Given the description of an element on the screen output the (x, y) to click on. 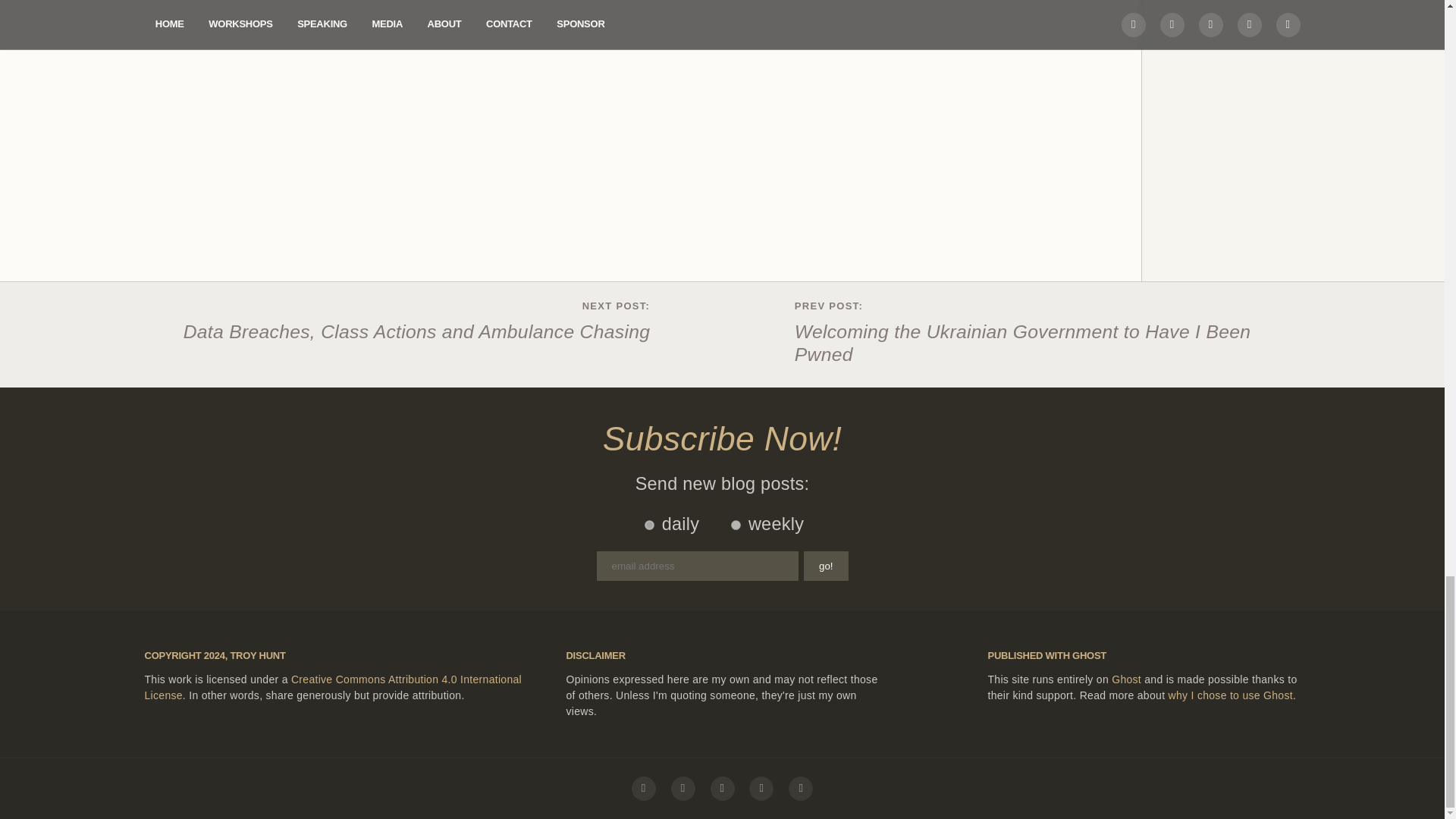
go! (825, 565)
Daily (649, 524)
Weekly (735, 524)
